Given the description of an element on the screen output the (x, y) to click on. 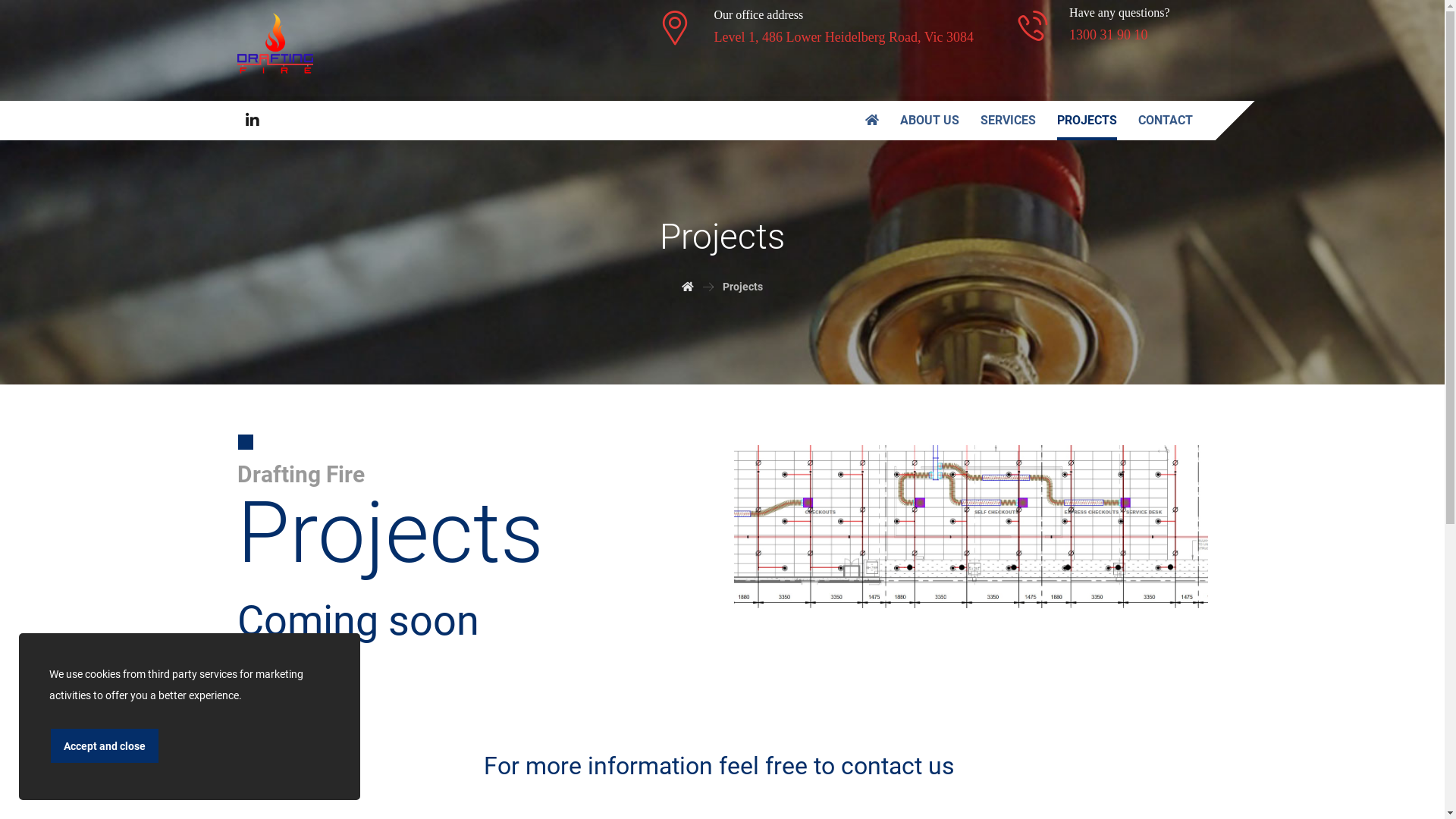
Design Sample - Drafting Fire Element type: hover (971, 526)
SERVICES Element type: text (1007, 120)
Accept and close Element type: text (104, 745)
PROJECTS Element type: text (1087, 120)
Fire Design, Consulting and Project Management Element type: hover (274, 43)
CONTACT Element type: text (1164, 120)
Home page Element type: hover (687, 286)
Projects Element type: text (742, 286)
ABOUT US Element type: text (928, 120)
